Given the description of an element on the screen output the (x, y) to click on. 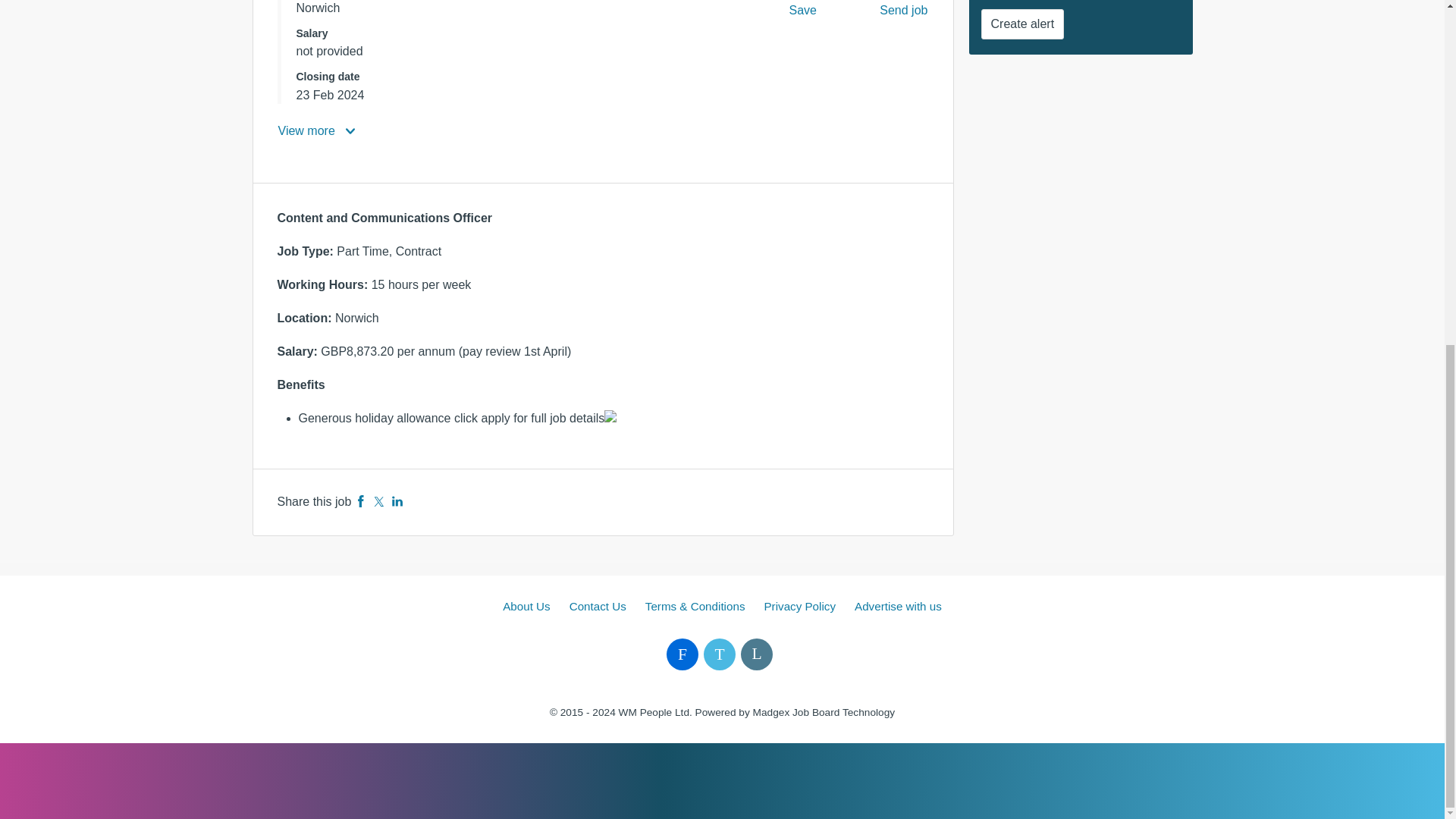
View more (318, 131)
Facebook (360, 501)
Twitter (378, 501)
Send job (903, 14)
